Given the description of an element on the screen output the (x, y) to click on. 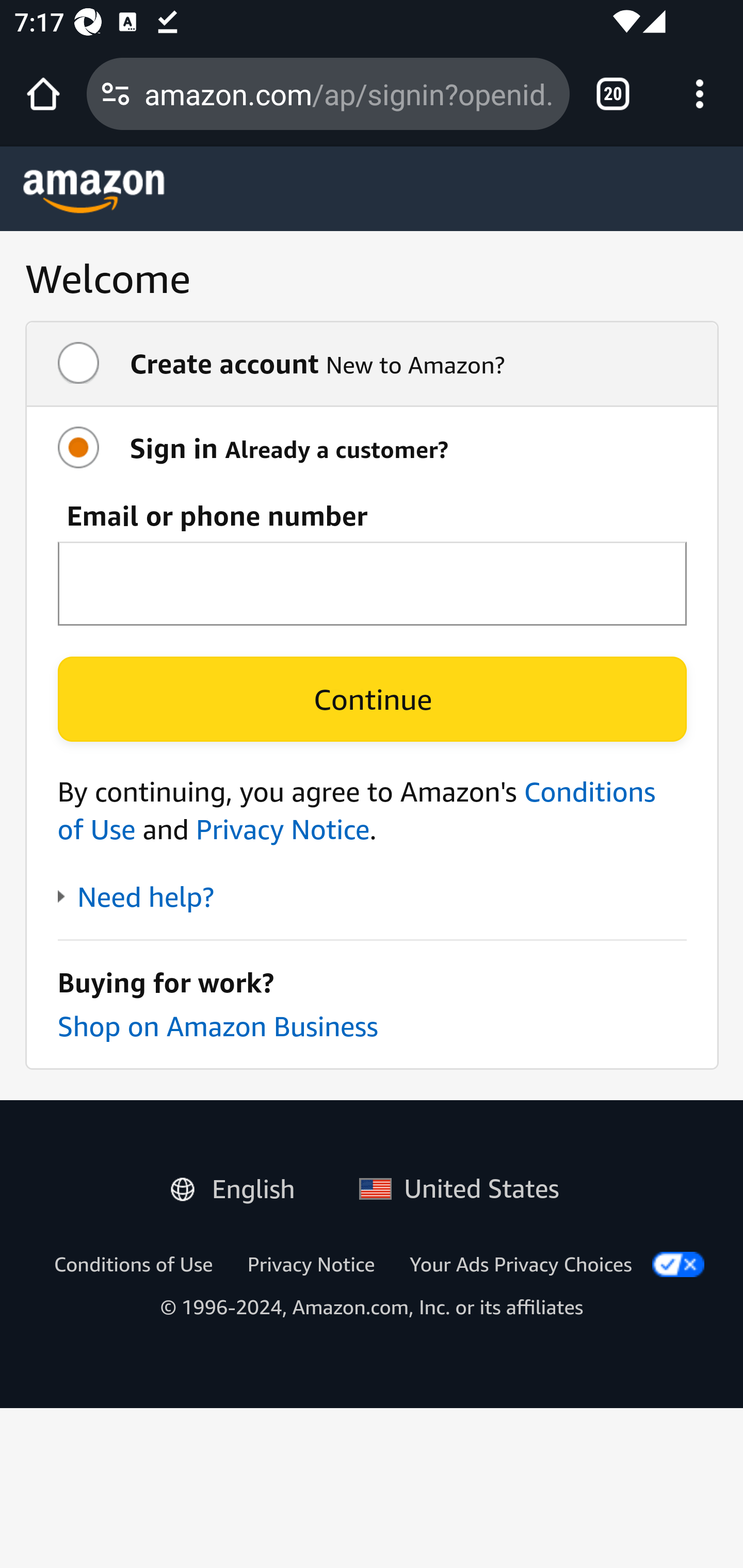
Open the home page (43, 93)
Connection is secure (115, 93)
Switch or close tabs (612, 93)
Customize and control Google Chrome (699, 93)
Amazon (94, 191)
Continue (371, 698)
Conditions of Use (356, 810)
Privacy Notice (282, 829)
Need help? (134, 897)
Shop on Amazon Business (216, 1025)
Choose a language for shopping. English (239, 1185)
Conditions of Use (132, 1263)
Privacy Notice (310, 1263)
Your Ads Privacy Choices (520, 1263)
